Given the description of an element on the screen output the (x, y) to click on. 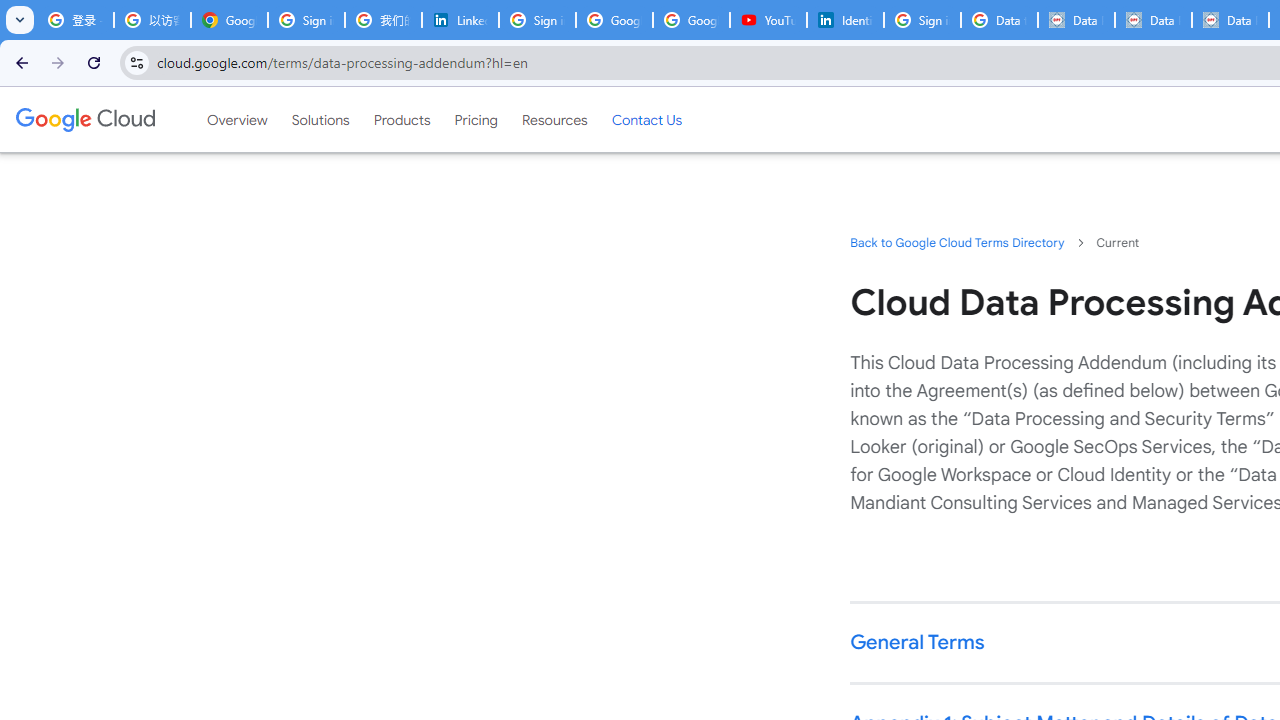
Sign in - Google Accounts (537, 20)
Contact Us (646, 119)
Pricing (476, 119)
Data Privacy Framework (1076, 20)
Data Privacy Framework (1152, 20)
LinkedIn Privacy Policy (460, 20)
Resources (553, 119)
